Given the description of an element on the screen output the (x, y) to click on. 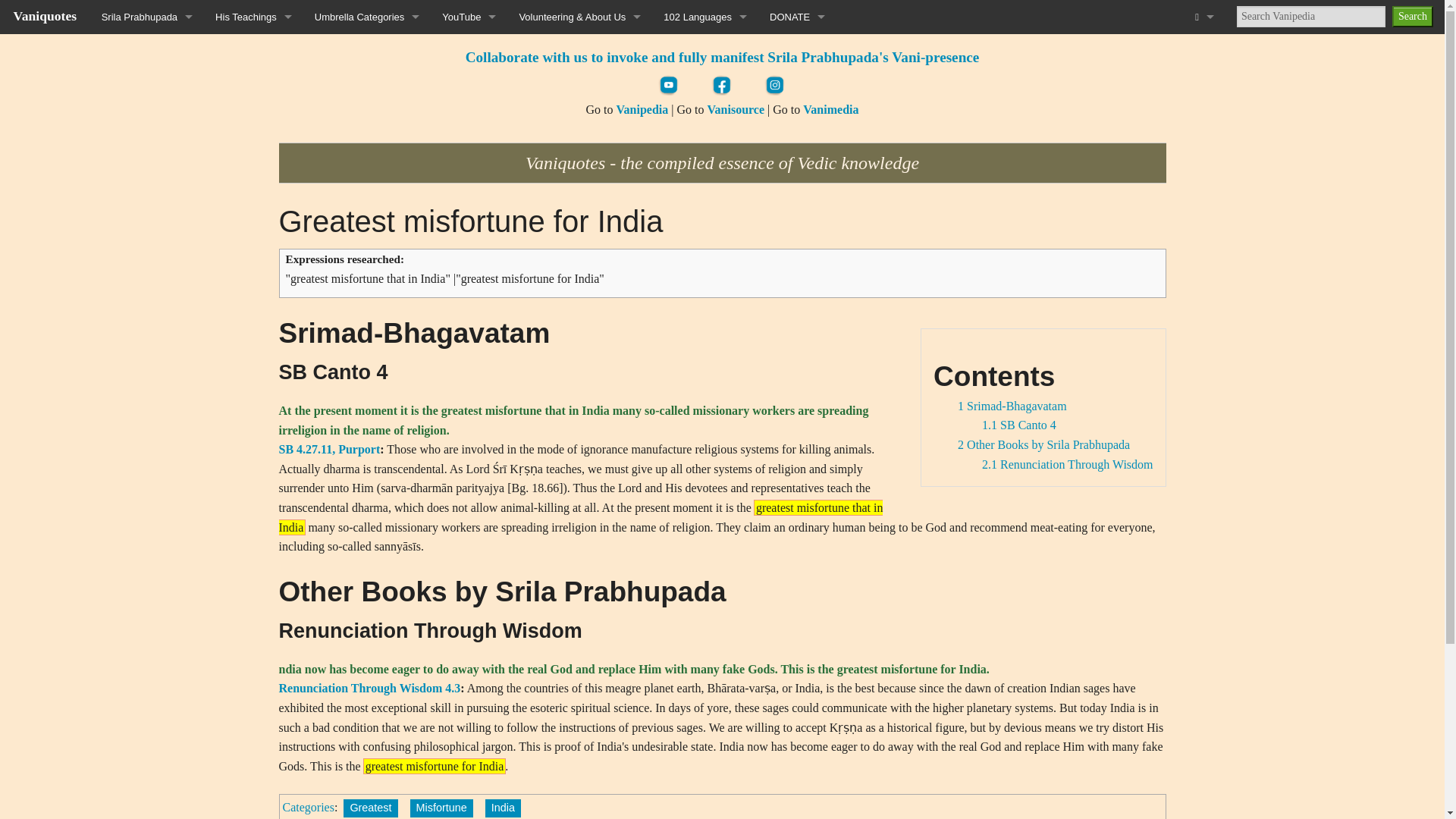
Vaniquotes (44, 15)
Search (1411, 16)
vanimedia:Main Page (831, 109)
vanipedia:Main Page (641, 109)
Srila Prabhupada (146, 17)
vanisource:SB 4.27.11 (329, 449)
vanisource:Main Page (735, 109)
